Given the description of an element on the screen output the (x, y) to click on. 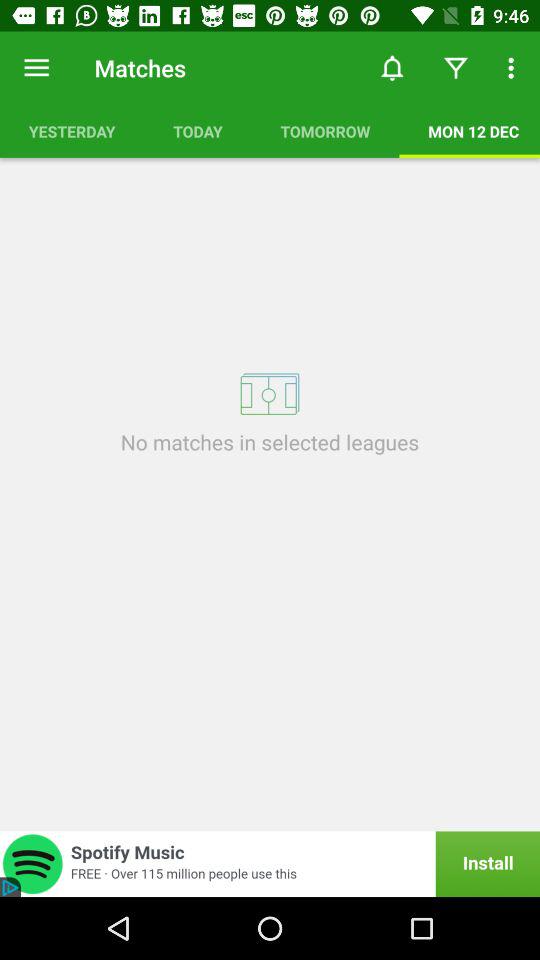
click the icon next to the tomorrow icon (197, 131)
